Given the description of an element on the screen output the (x, y) to click on. 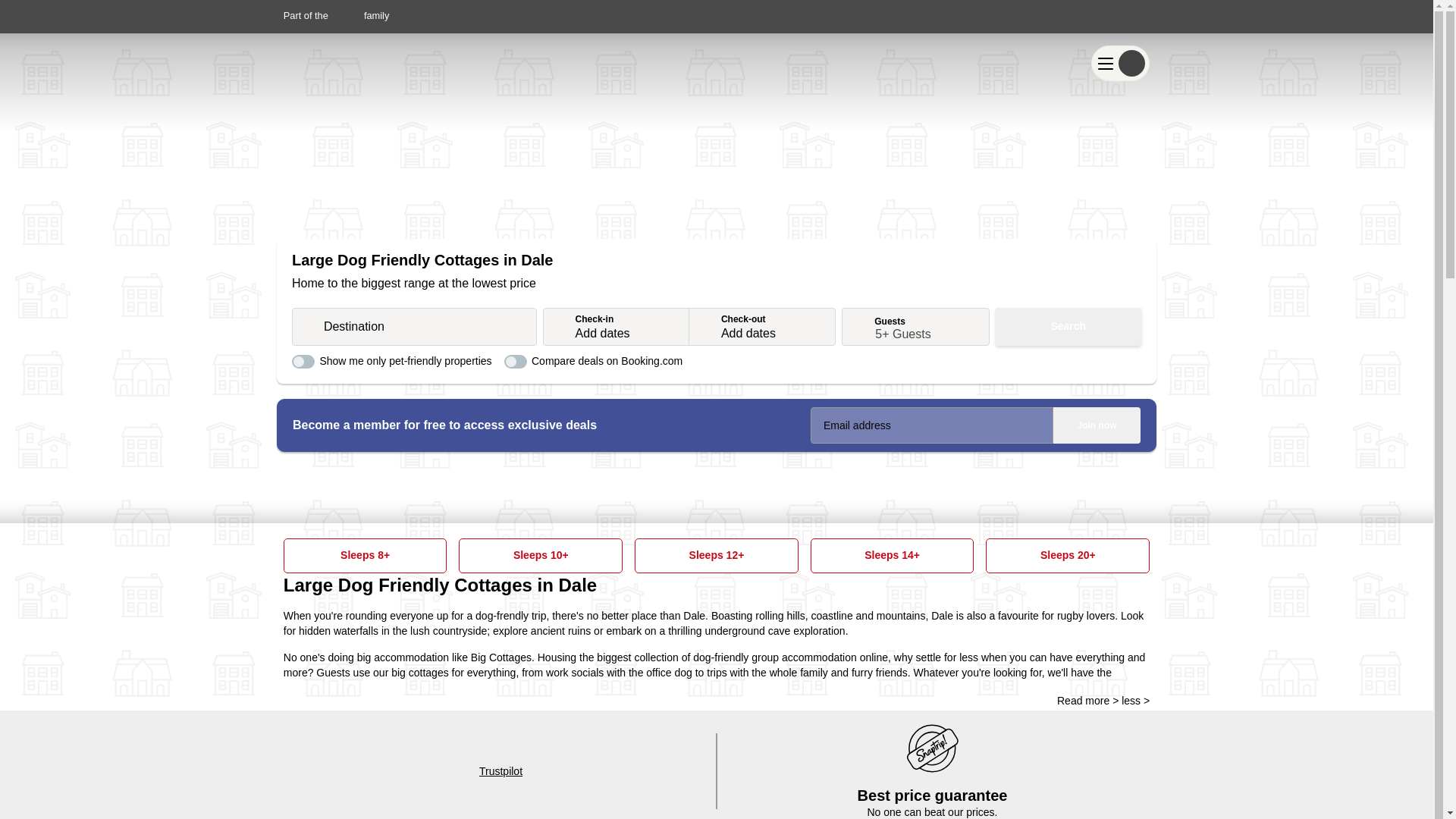
Part of the family (336, 15)
